Given the description of an element on the screen output the (x, y) to click on. 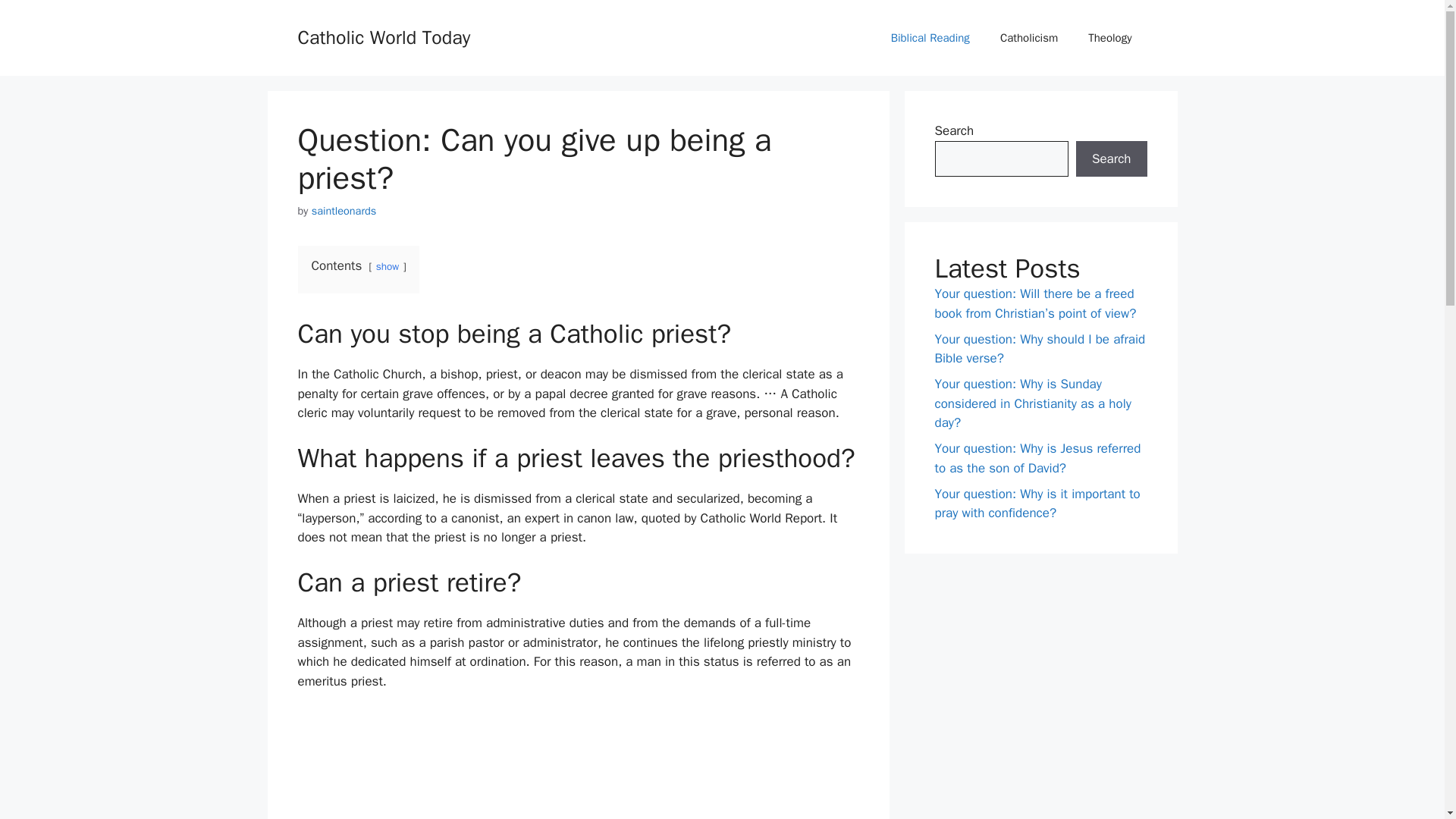
Your question: Why is Jesus referred to as the son of David? (1037, 457)
Search (1111, 158)
View all posts by saintleonards (344, 210)
Catholicism (1029, 37)
show (386, 266)
Theology (1110, 37)
Biblical Reading (930, 37)
Your question: Why should I be afraid Bible verse? (1039, 348)
Catholic World Today (383, 37)
